Given the description of an element on the screen output the (x, y) to click on. 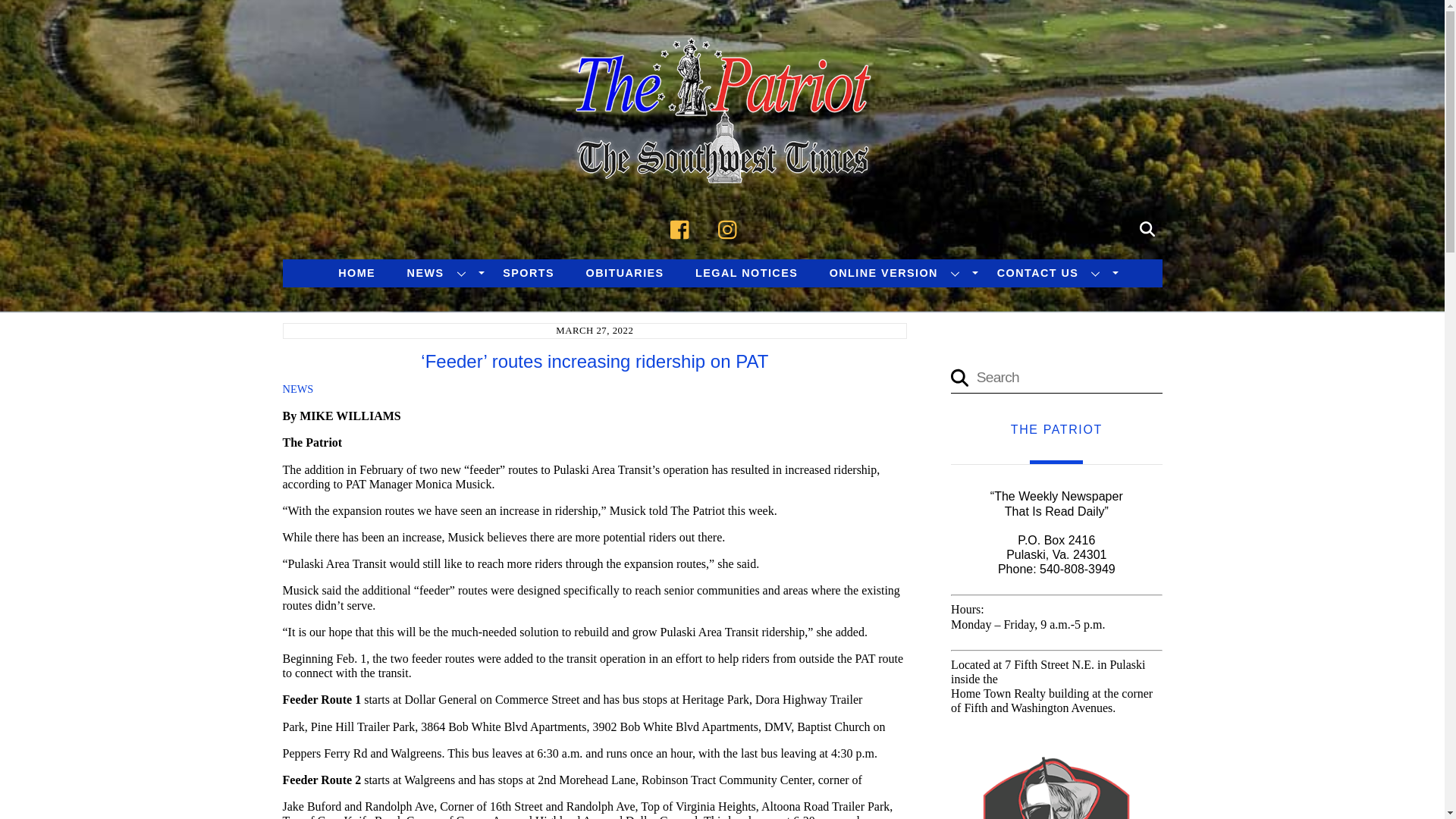
Search (1055, 377)
Patriot Publishing LLC (721, 165)
OBITUARIES (624, 272)
LEGAL NOTICES (745, 272)
Search (1146, 227)
ONLINE VERSION (897, 272)
SPORTS (528, 272)
HOME (356, 272)
NEWS (297, 388)
NEWS (439, 272)
CONTACT US (1051, 272)
